Given the description of an element on the screen output the (x, y) to click on. 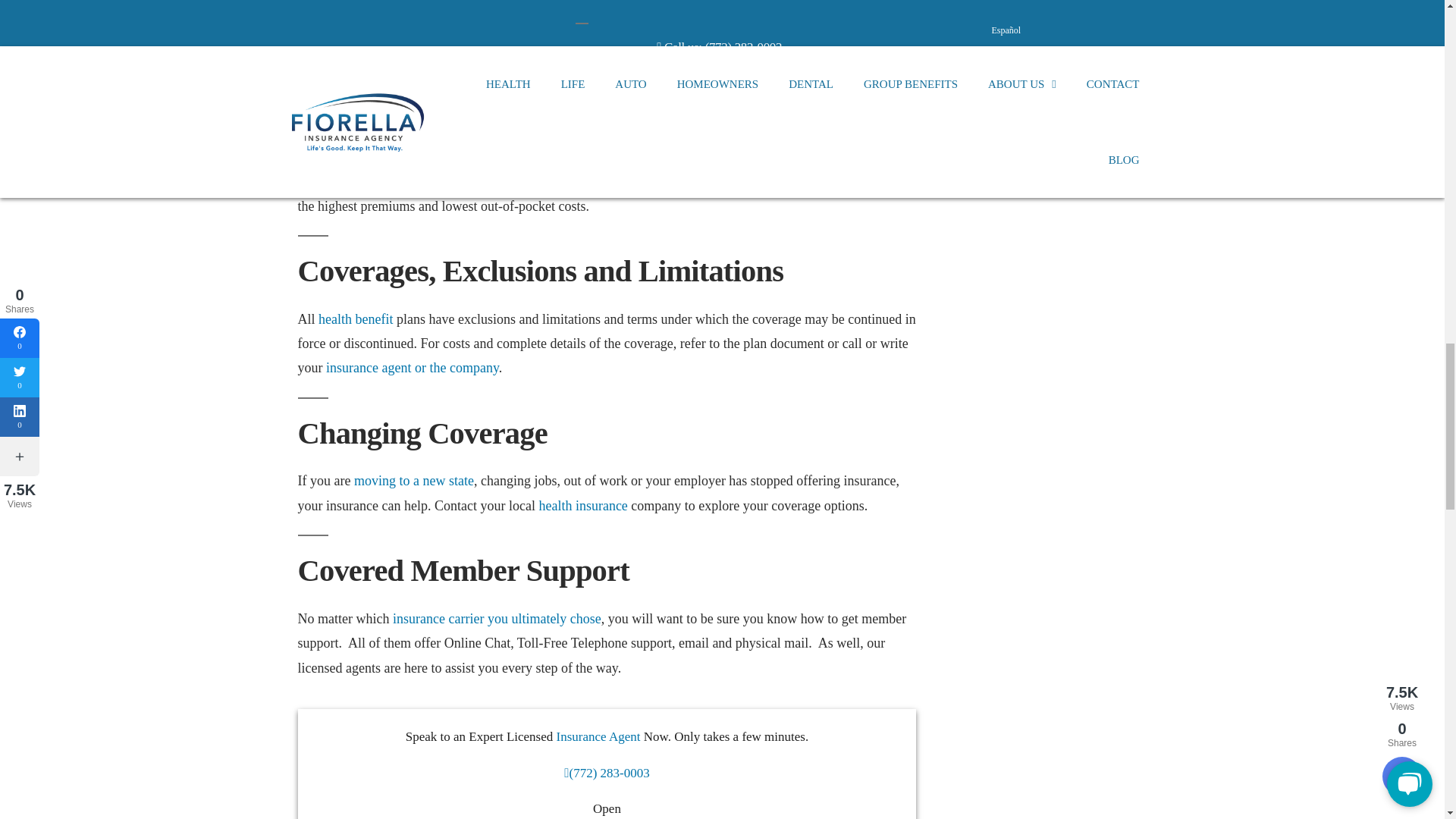
Insurance Agent (598, 736)
